Given the description of an element on the screen output the (x, y) to click on. 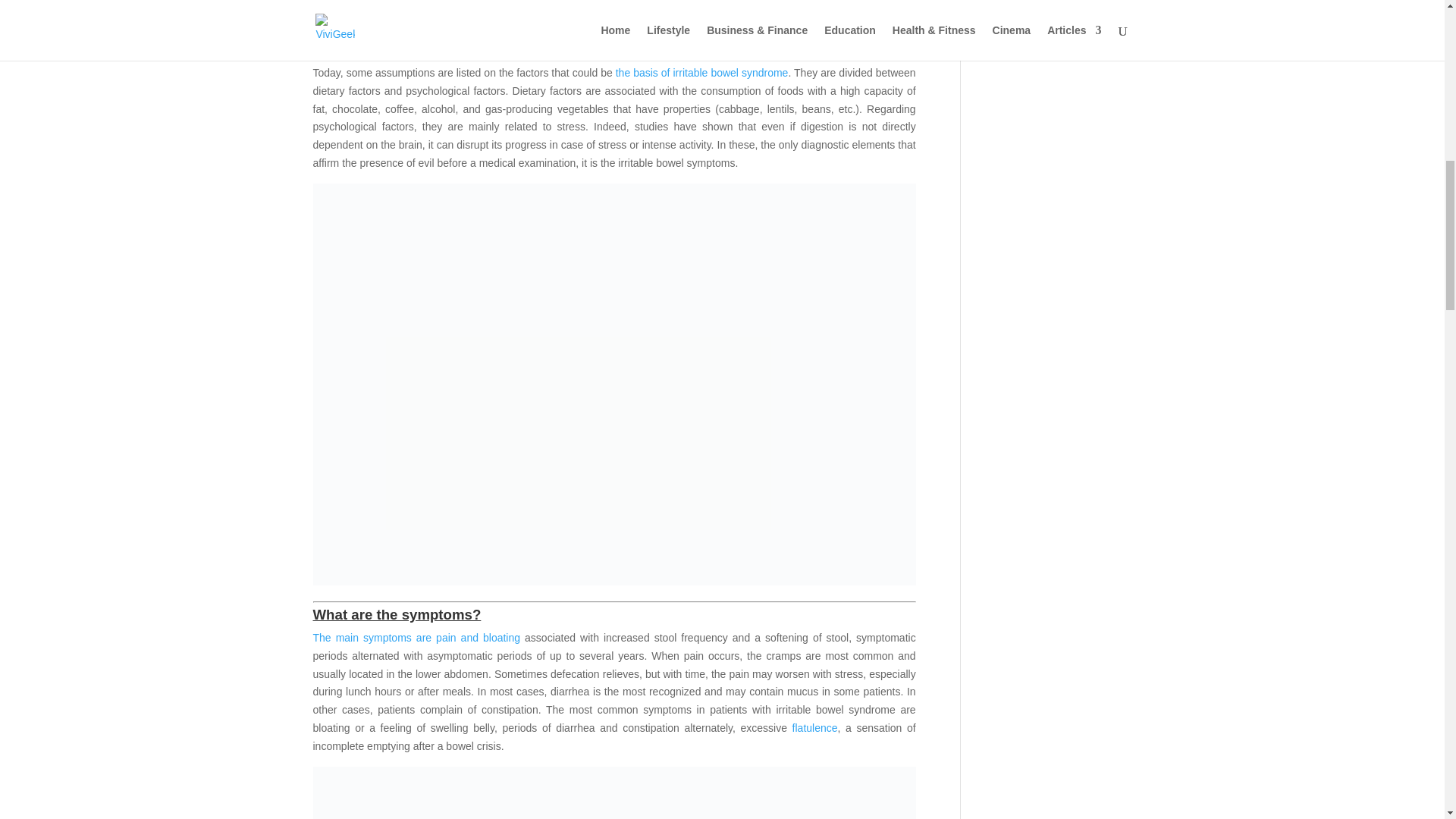
The main symptoms are pain and bloating (416, 637)
flatulence (815, 727)
flatulence (815, 727)
the basis of irritable bowel syndrome (702, 72)
